Given the description of an element on the screen output the (x, y) to click on. 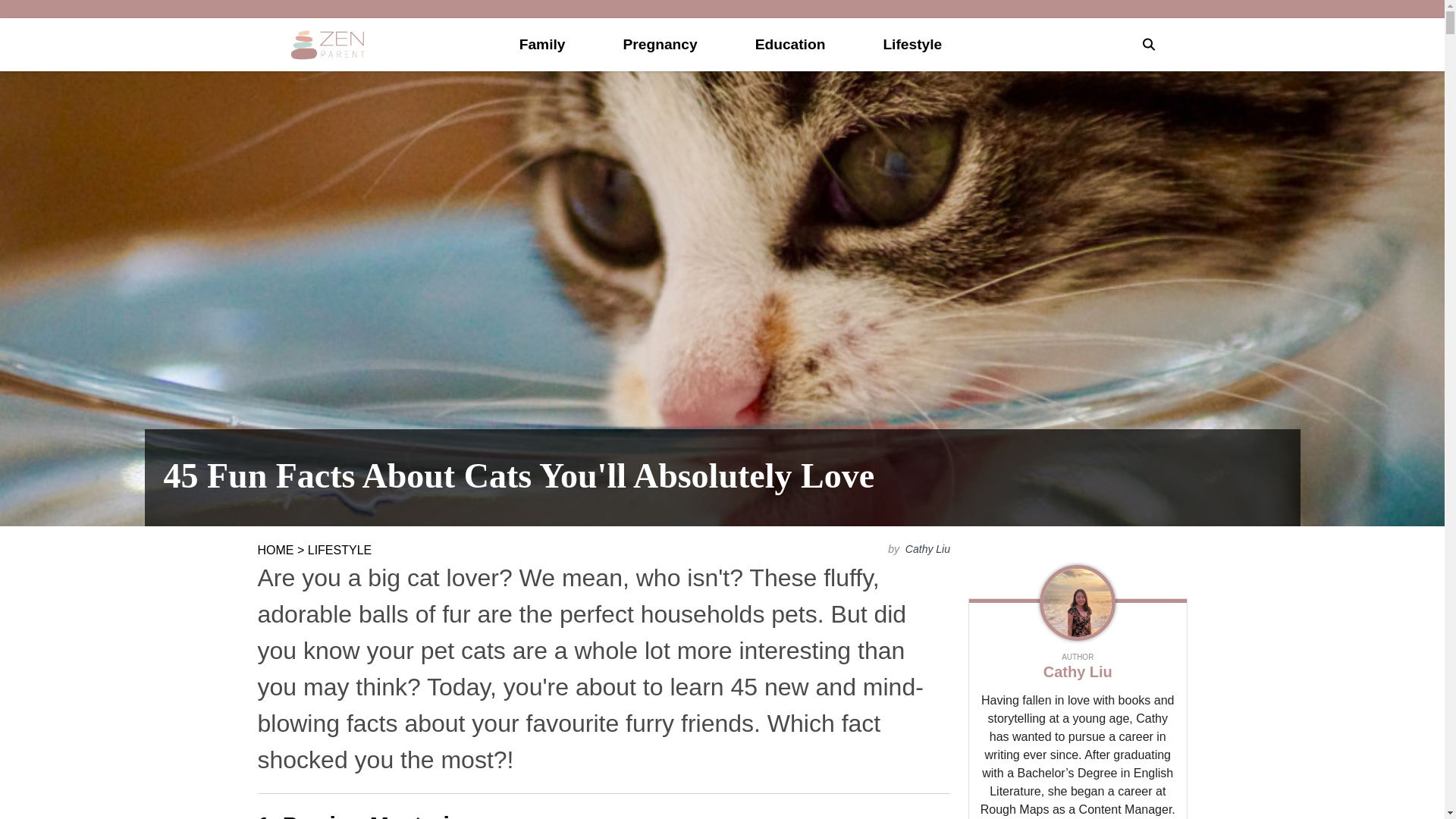
Cathy Liu (926, 548)
LIFESTYLE (339, 549)
45 Fun Facts About Cats You'll Absolutely Love (722, 477)
HOME (275, 549)
